Given the description of an element on the screen output the (x, y) to click on. 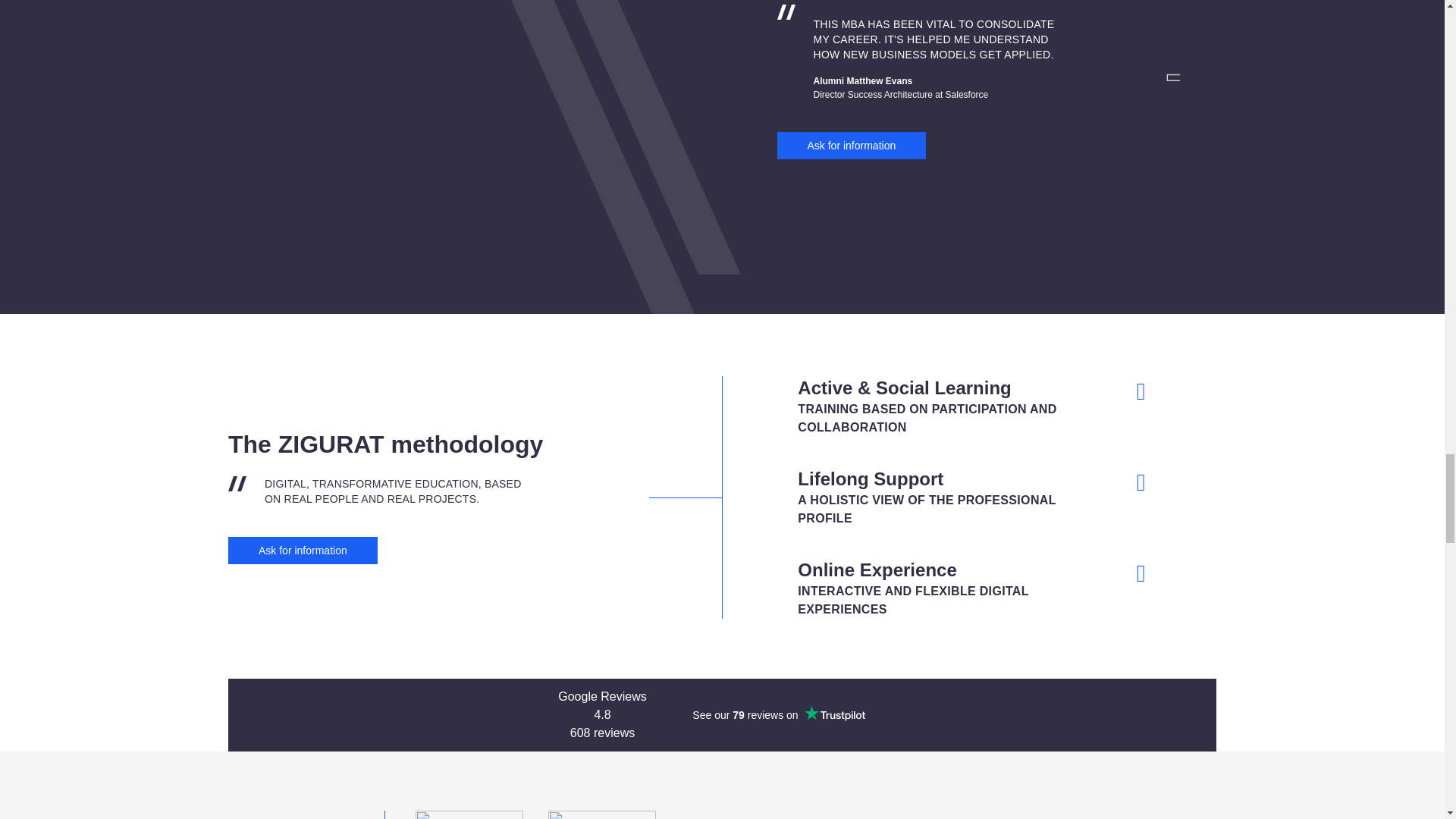
Customer reviews powered by Trustpilot (778, 714)
